Given the description of an element on the screen output the (x, y) to click on. 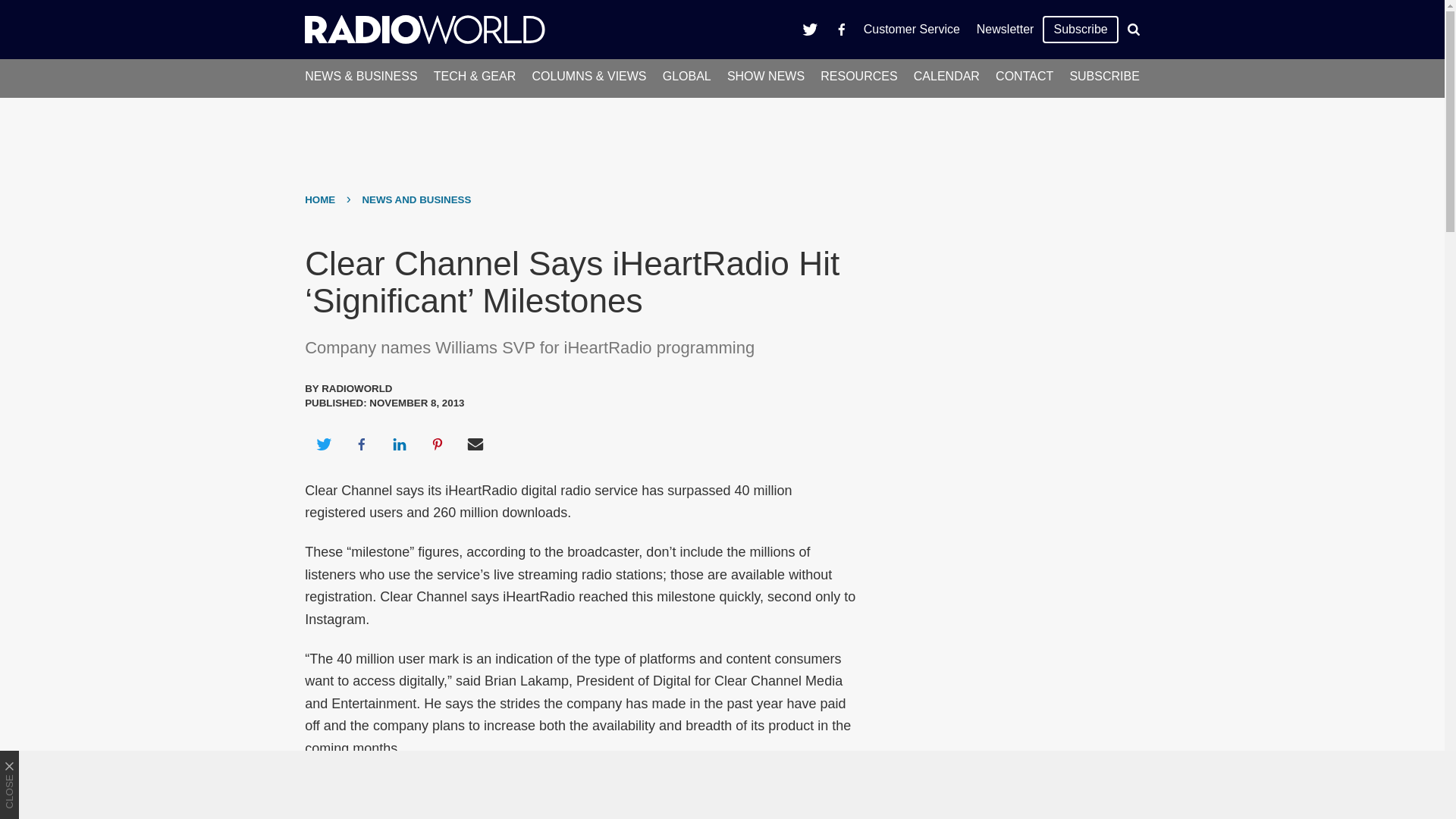
Share on Pinterest (438, 444)
Share via Email (476, 444)
Newsletter (1005, 29)
Share on LinkedIn (399, 444)
Share on Facebook (361, 444)
Share on Twitter (323, 444)
Customer Service (912, 29)
